Given the description of an element on the screen output the (x, y) to click on. 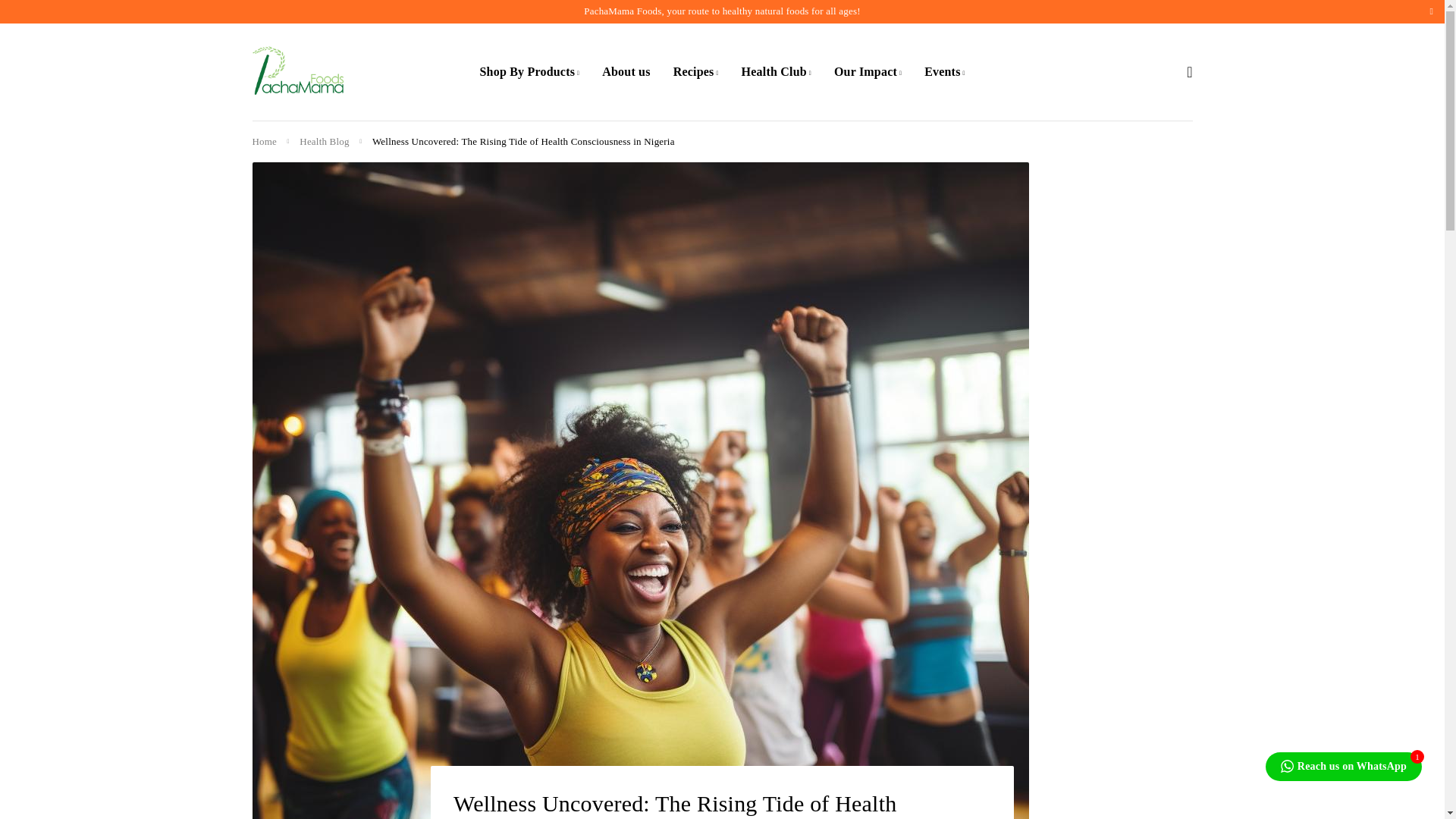
Health Club (775, 71)
Recipes (695, 71)
Shop By Products (529, 71)
Events (944, 71)
Our Impact (867, 71)
Pachamama Foods (296, 71)
About us (625, 71)
Home (263, 141)
Health Blog (324, 141)
